Given the description of an element on the screen output the (x, y) to click on. 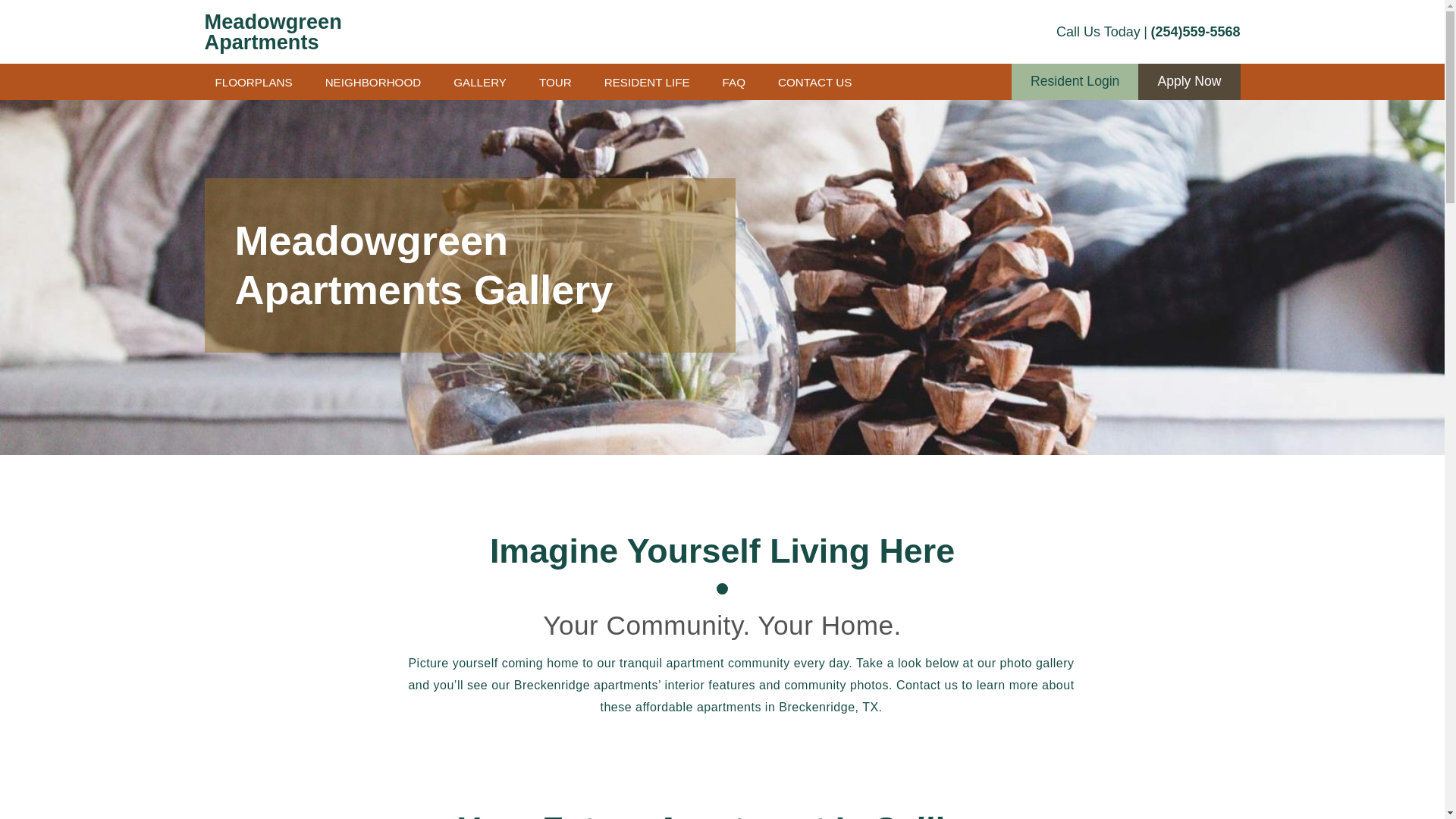
Apply Now (1189, 81)
RESIDENT LIFE (647, 82)
GALLERY (479, 82)
FLOORPLANS (253, 82)
FAQ (733, 82)
Meadowgreen Apartments (303, 31)
Resident Login (1074, 81)
CONTACT US (814, 82)
TOUR (555, 82)
NEIGHBORHOOD (373, 82)
